Given the description of an element on the screen output the (x, y) to click on. 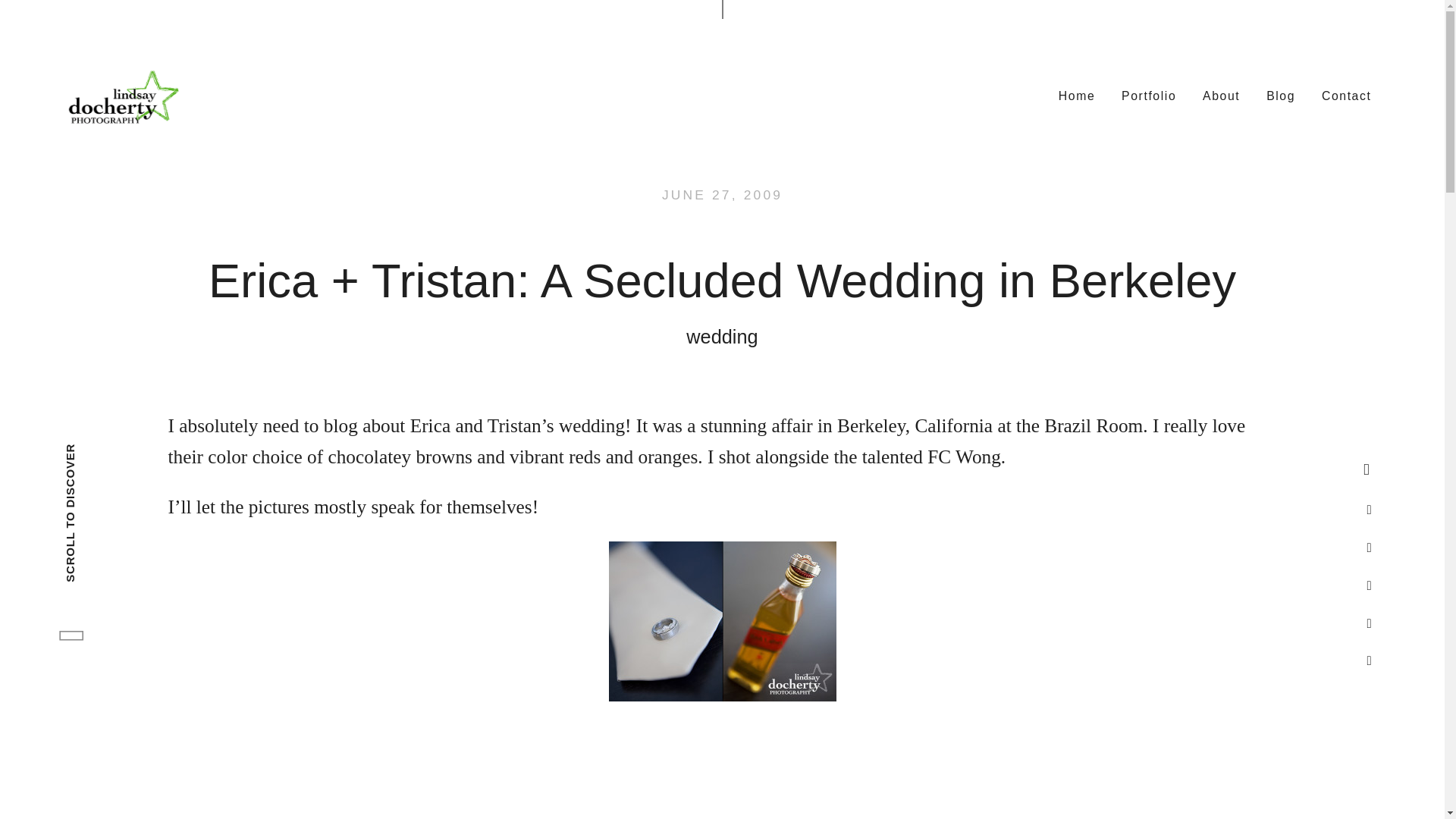
Brazil Room (1092, 424)
Portfolio (1149, 94)
wedding (721, 336)
SCROLL TO DISCOVER (152, 470)
SCROLL TO DISCOVER (132, 452)
Home (1076, 94)
About (1221, 94)
Blog (1281, 94)
Contact (1346, 94)
